Given the description of an element on the screen output the (x, y) to click on. 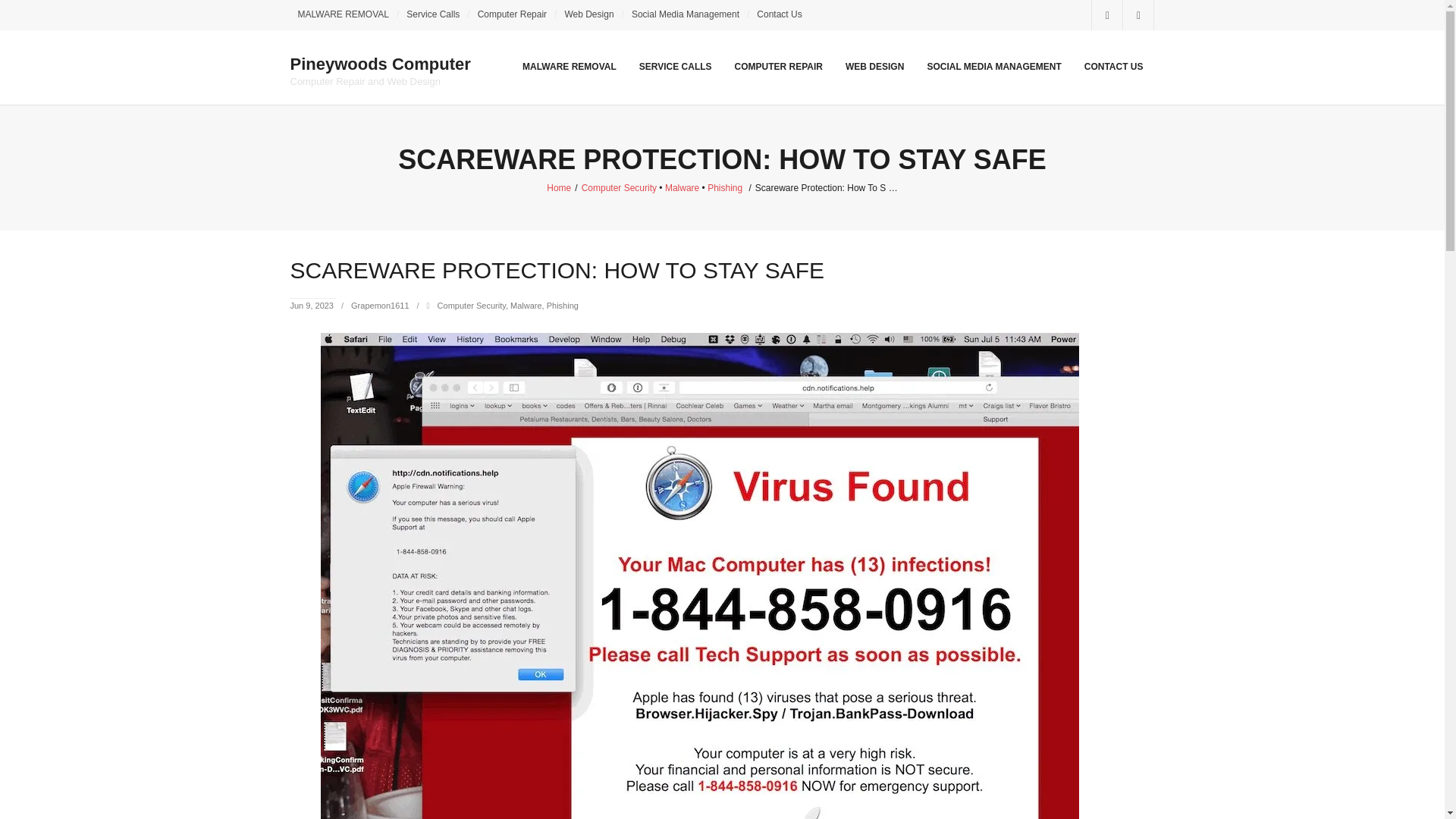
Phishing (562, 305)
Malware (526, 305)
Home (558, 187)
WEB DESIGN (379, 65)
MALWARE REMOVAL (874, 67)
Service Calls (342, 15)
Phishing (432, 15)
Computer Security (724, 187)
View all posts by grapemon1611 (471, 305)
Web Design (379, 305)
Malware (588, 15)
Contact Us (681, 187)
Pineywoods Computer (779, 15)
Grapemon1611 (379, 64)
